Given the description of an element on the screen output the (x, y) to click on. 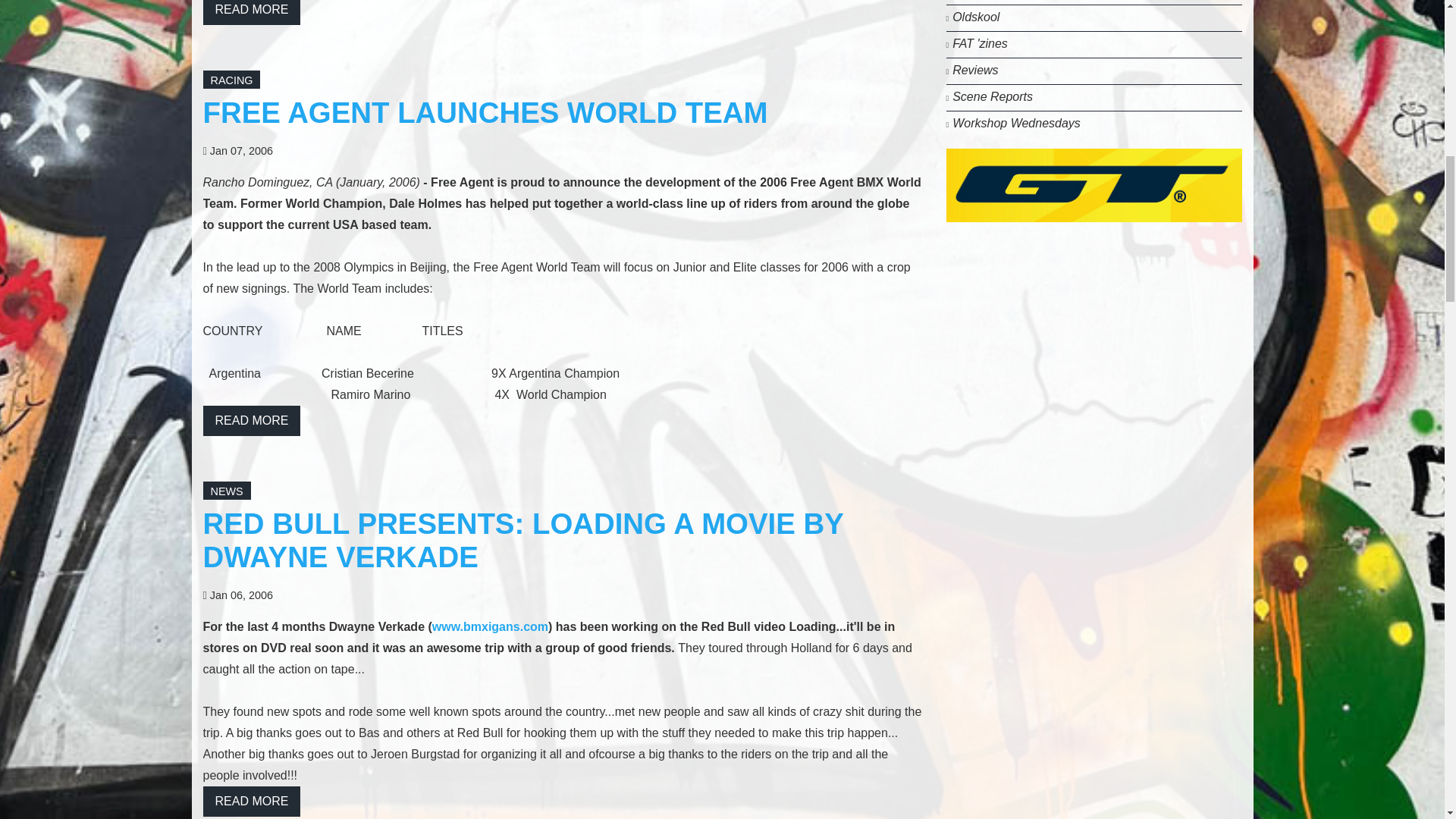
RACING (232, 80)
FREE AGENT LAUNCHES WORLD TEAM (485, 112)
READ MORE (252, 12)
